Given the description of an element on the screen output the (x, y) to click on. 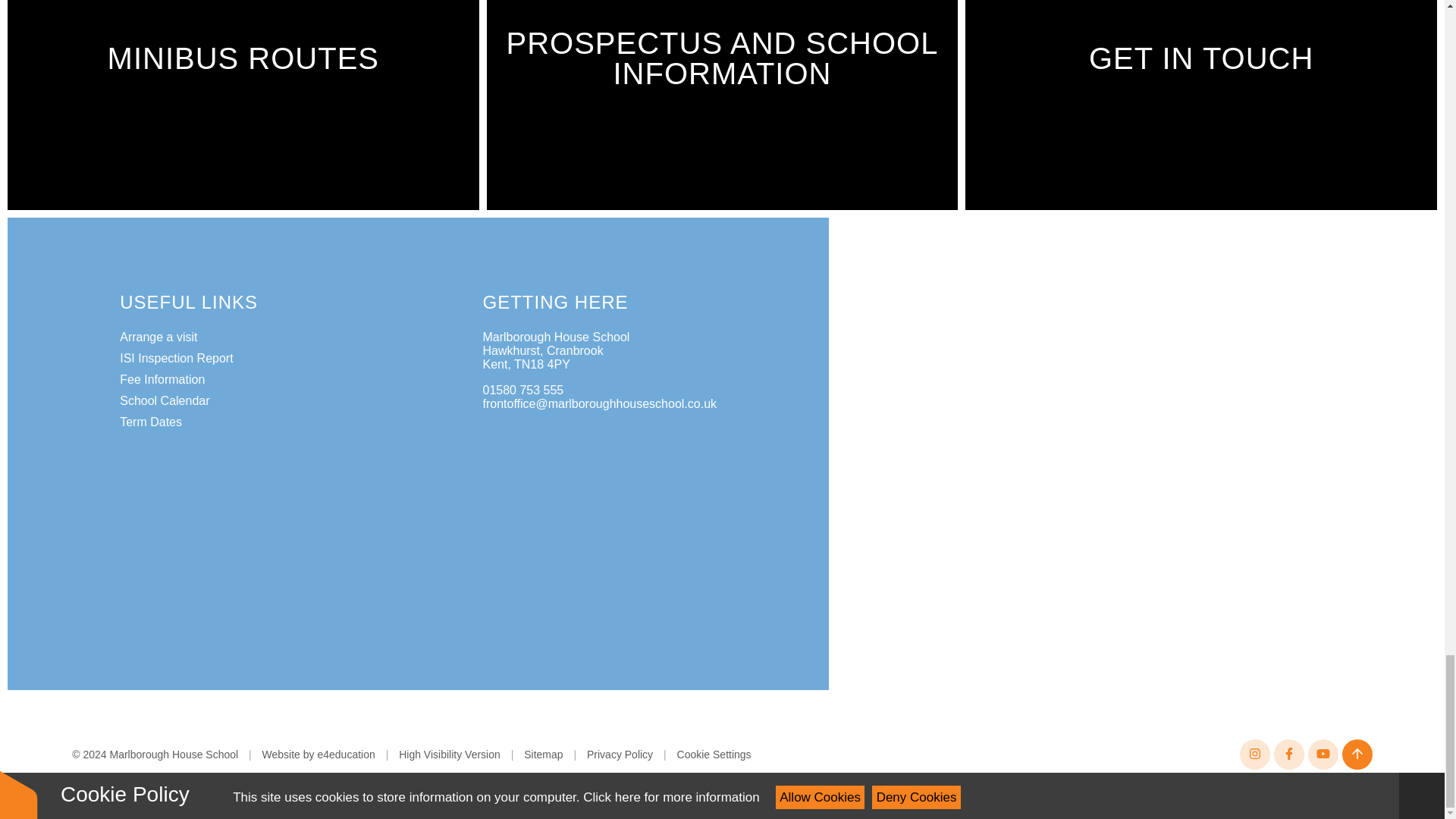
Facebook (1289, 754)
Cookie Settings (714, 754)
YouTube (1322, 754)
Instagram (1254, 754)
Scroll to Top (1357, 754)
